Given the description of an element on the screen output the (x, y) to click on. 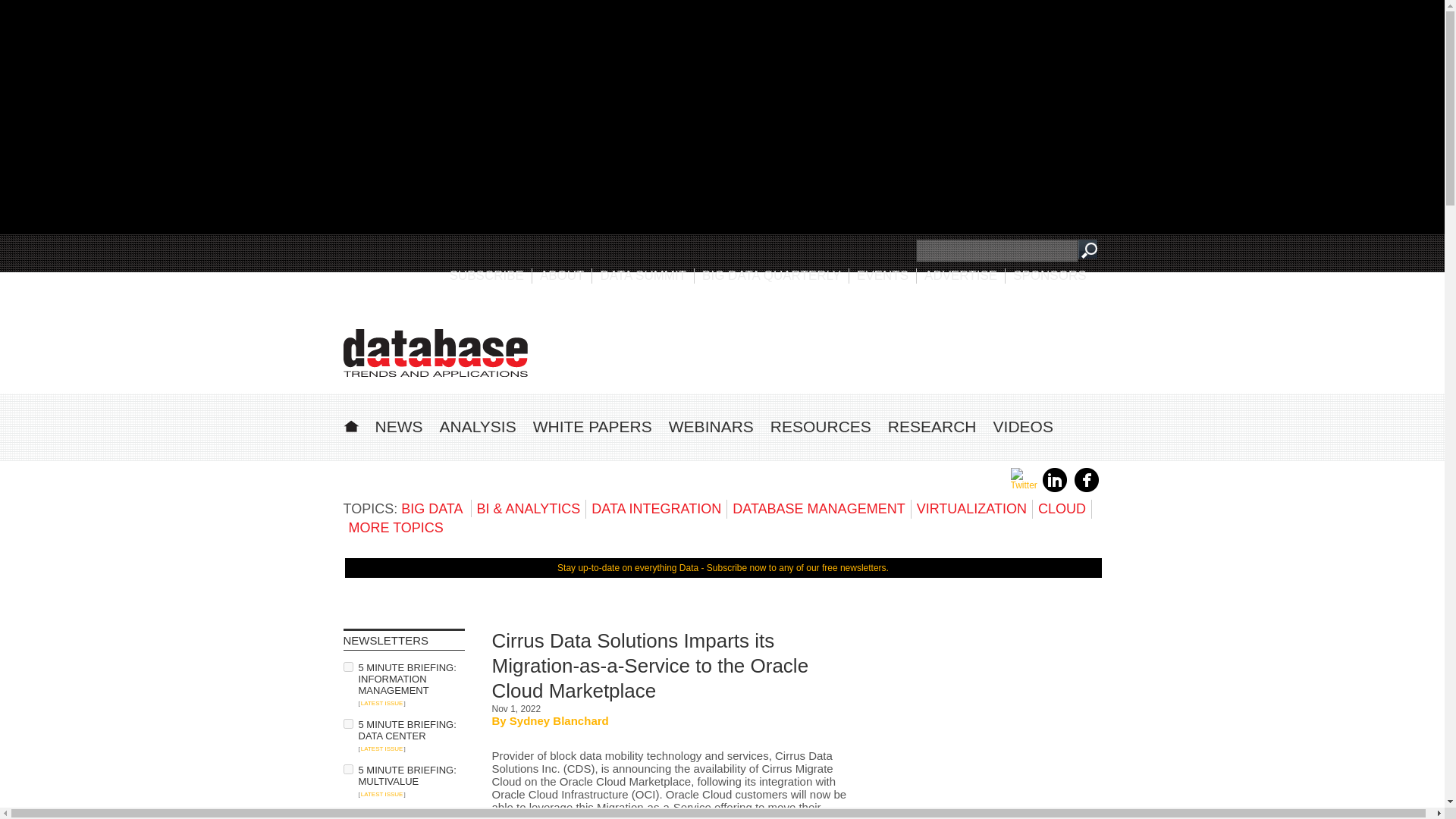
3rd party ad content (824, 347)
DBTA on Facebook (1085, 489)
ADVERTISE (960, 275)
ANALYSIS (477, 425)
RESOURCES (820, 425)
on (347, 723)
VIDEOS (1022, 425)
RESEARCH (932, 425)
WHITE PAPERS (592, 425)
3rd party ad content (986, 723)
